Given the description of an element on the screen output the (x, y) to click on. 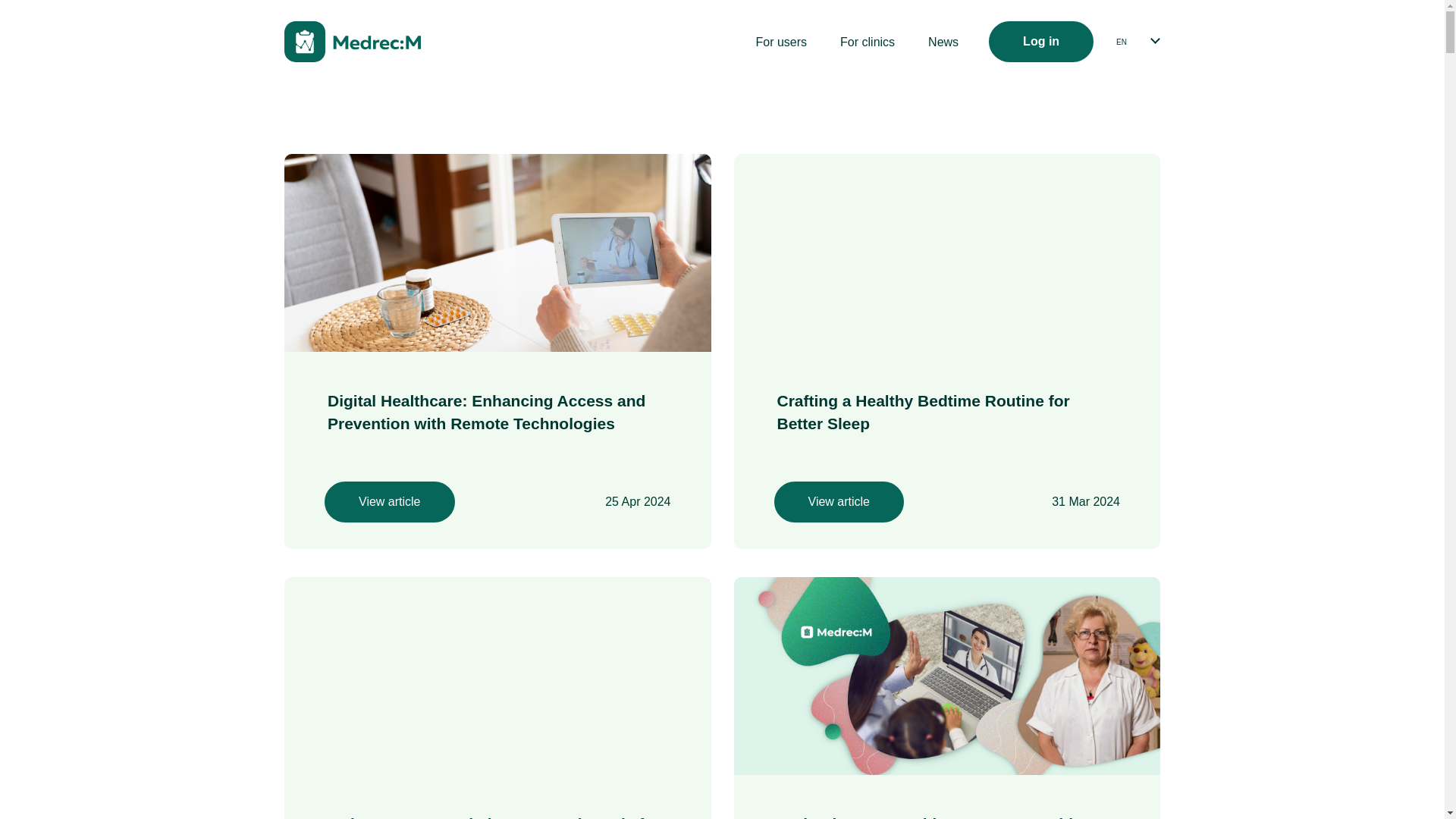
Medrec:M (351, 41)
Log in (1040, 41)
EN (1120, 41)
For clinics (867, 42)
News (943, 42)
View article (389, 501)
For users (780, 42)
View article (838, 501)
